Given the description of an element on the screen output the (x, y) to click on. 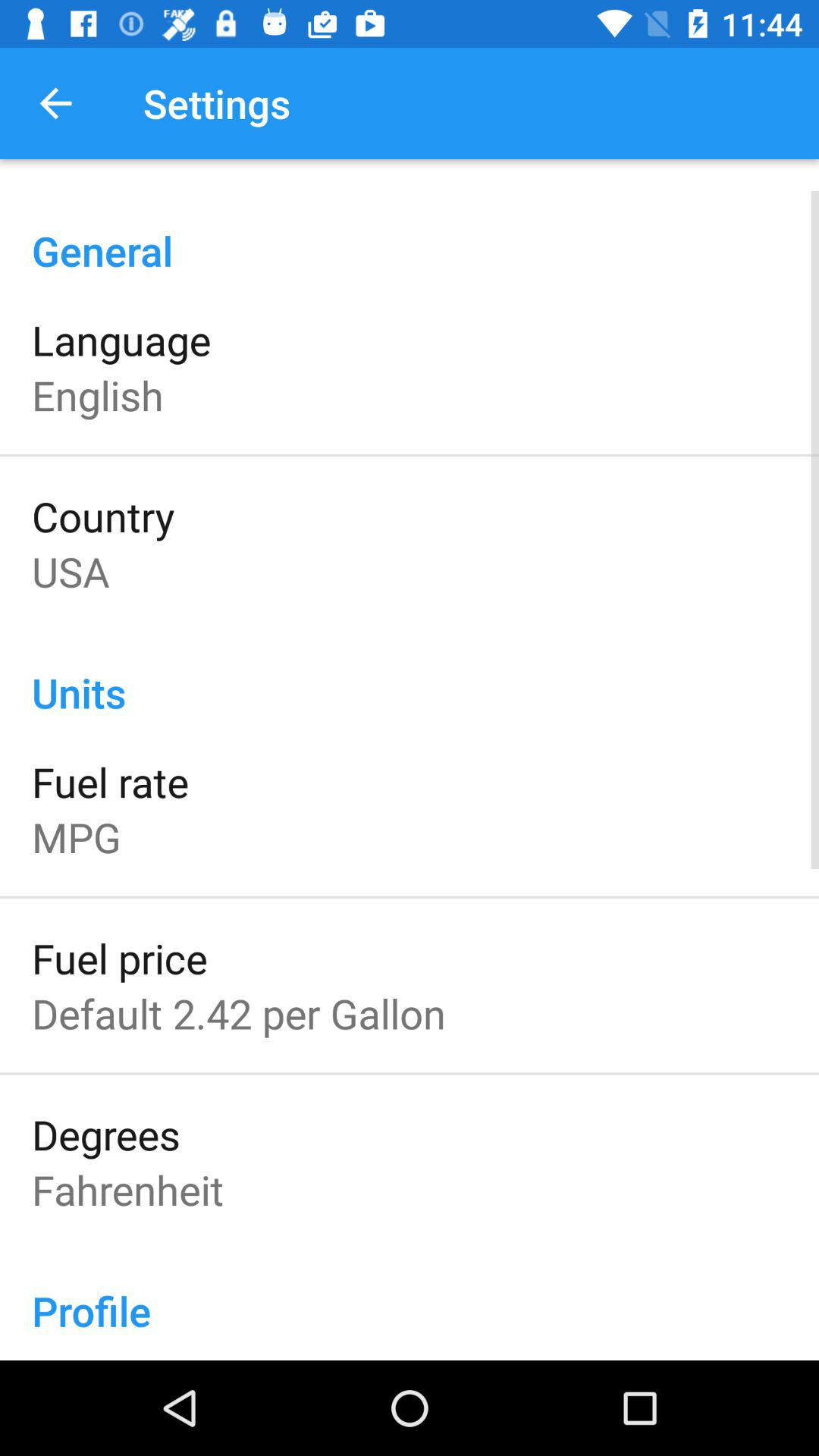
jump until mpg icon (76, 836)
